Given the description of an element on the screen output the (x, y) to click on. 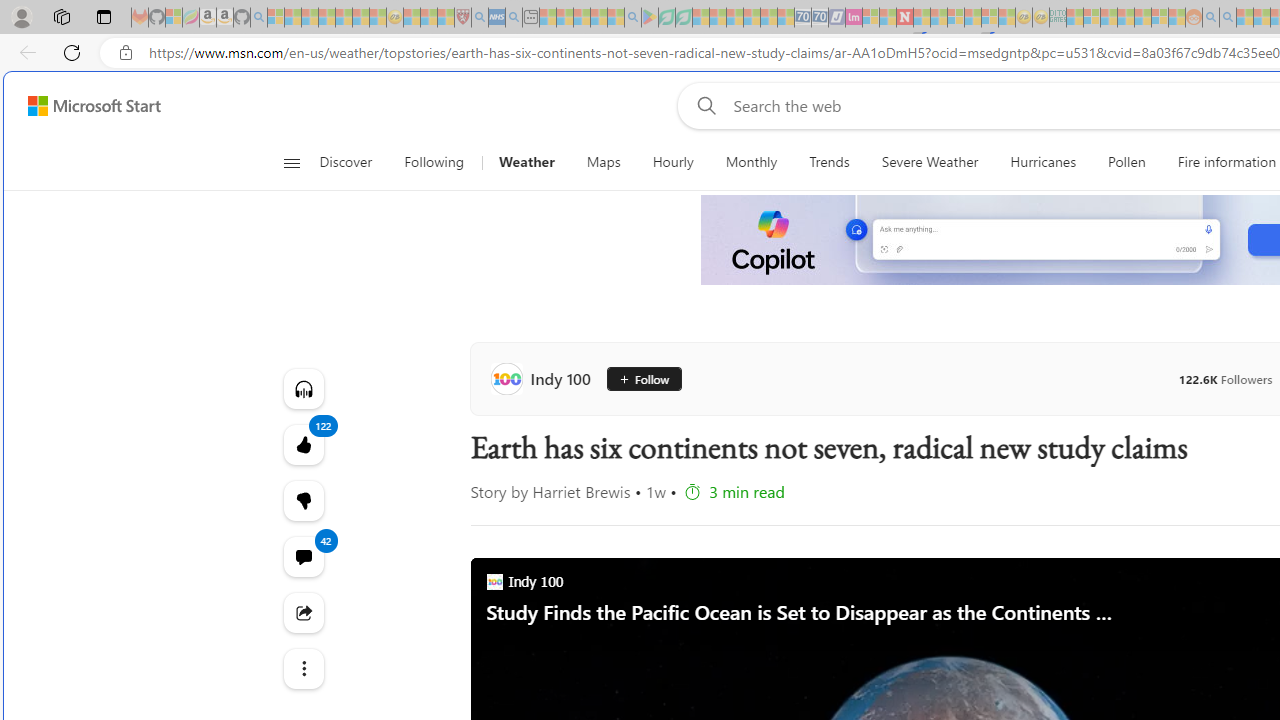
Pollen (1126, 162)
Trends (828, 162)
Maps (603, 162)
Class: at-item (302, 668)
Hurricanes (1043, 162)
Terms of Use Agreement - Sleeping (666, 17)
